Given the description of an element on the screen output the (x, y) to click on. 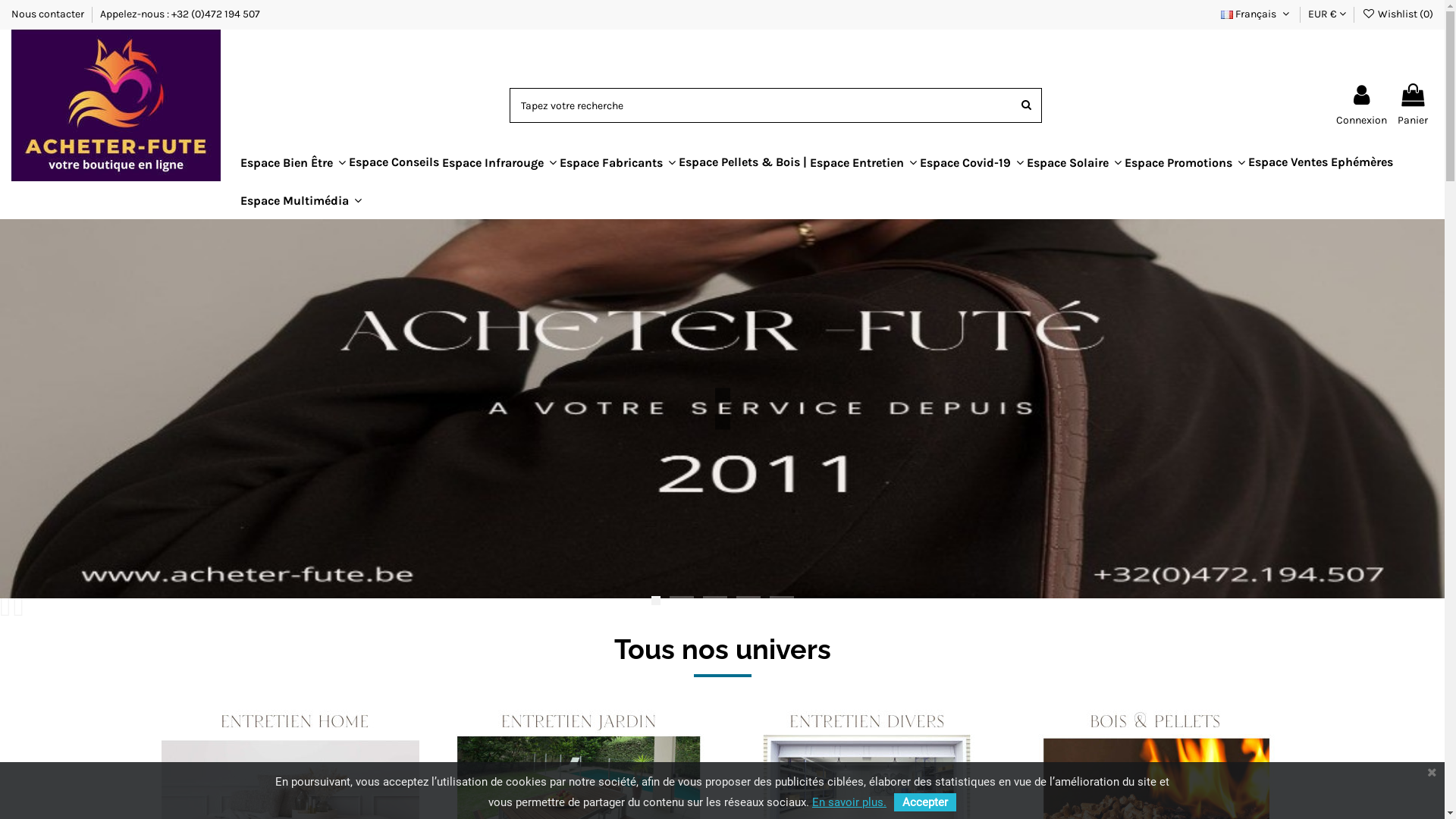
Accepter Element type: text (925, 802)
Nous contacter Element type: text (48, 13)
Espace Infrarouge Element type: text (499, 162)
Espace Pellets & Bois | Element type: text (742, 162)
Espace Solaire Element type: text (1074, 162)
Espace Conseils Element type: text (393, 162)
Appelez-nous : +32 (0)472 194 507 Element type: text (180, 13)
Espace Entretien Element type: text (863, 162)
Espace Fabricants Element type: text (617, 162)
En savoir plus. Element type: text (849, 801)
Espace Promotions Element type: text (1184, 162)
Espace Covid-19 Element type: text (971, 162)
Wishlist (0) Element type: text (1397, 13)
Panier Element type: text (1412, 105)
Connexion Element type: text (1361, 105)
